Given the description of an element on the screen output the (x, y) to click on. 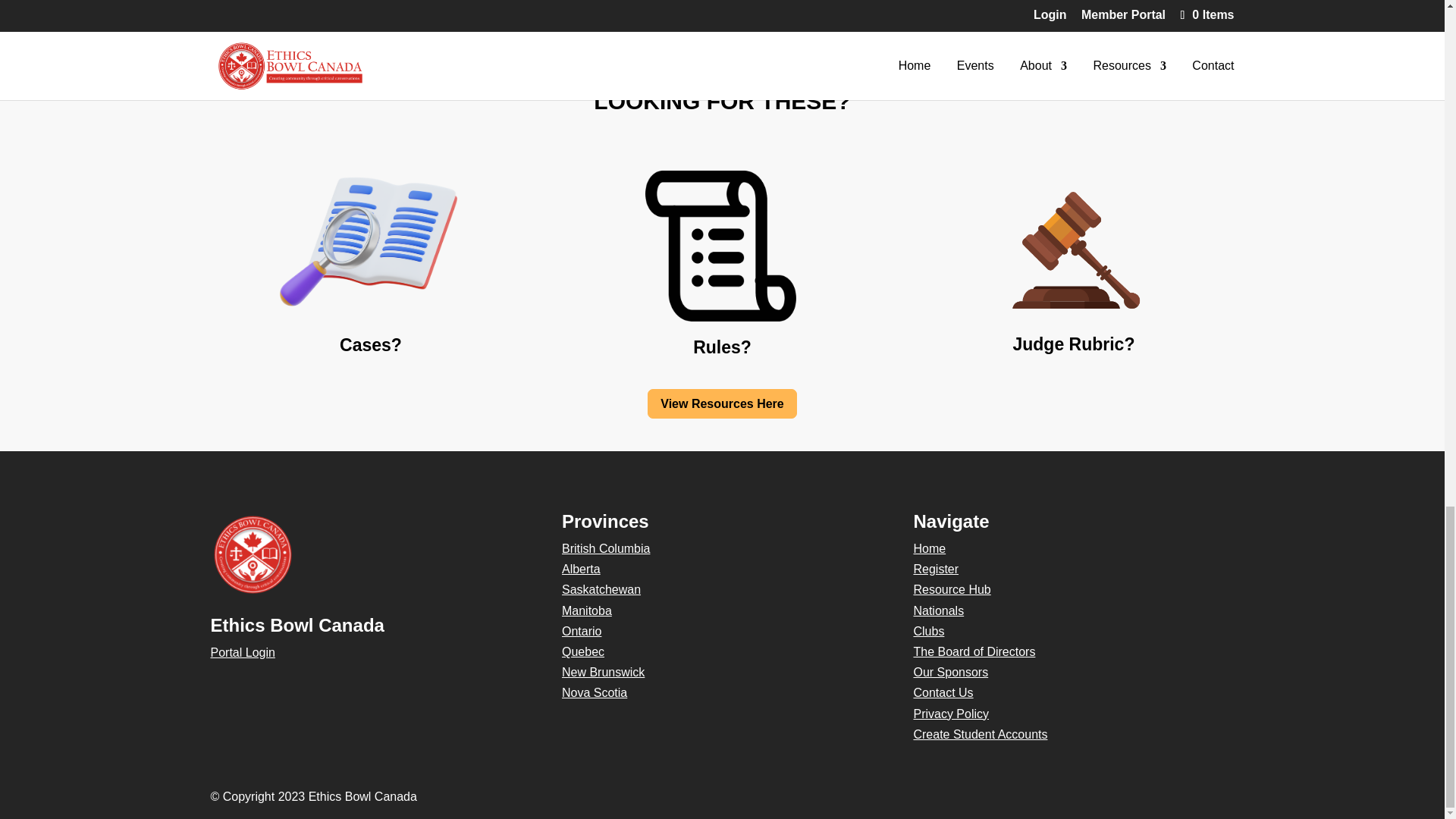
pngwing.com (721, 246)
book (370, 245)
Cem Erkli (943, 10)
judge image (1073, 245)
